Given the description of an element on the screen output the (x, y) to click on. 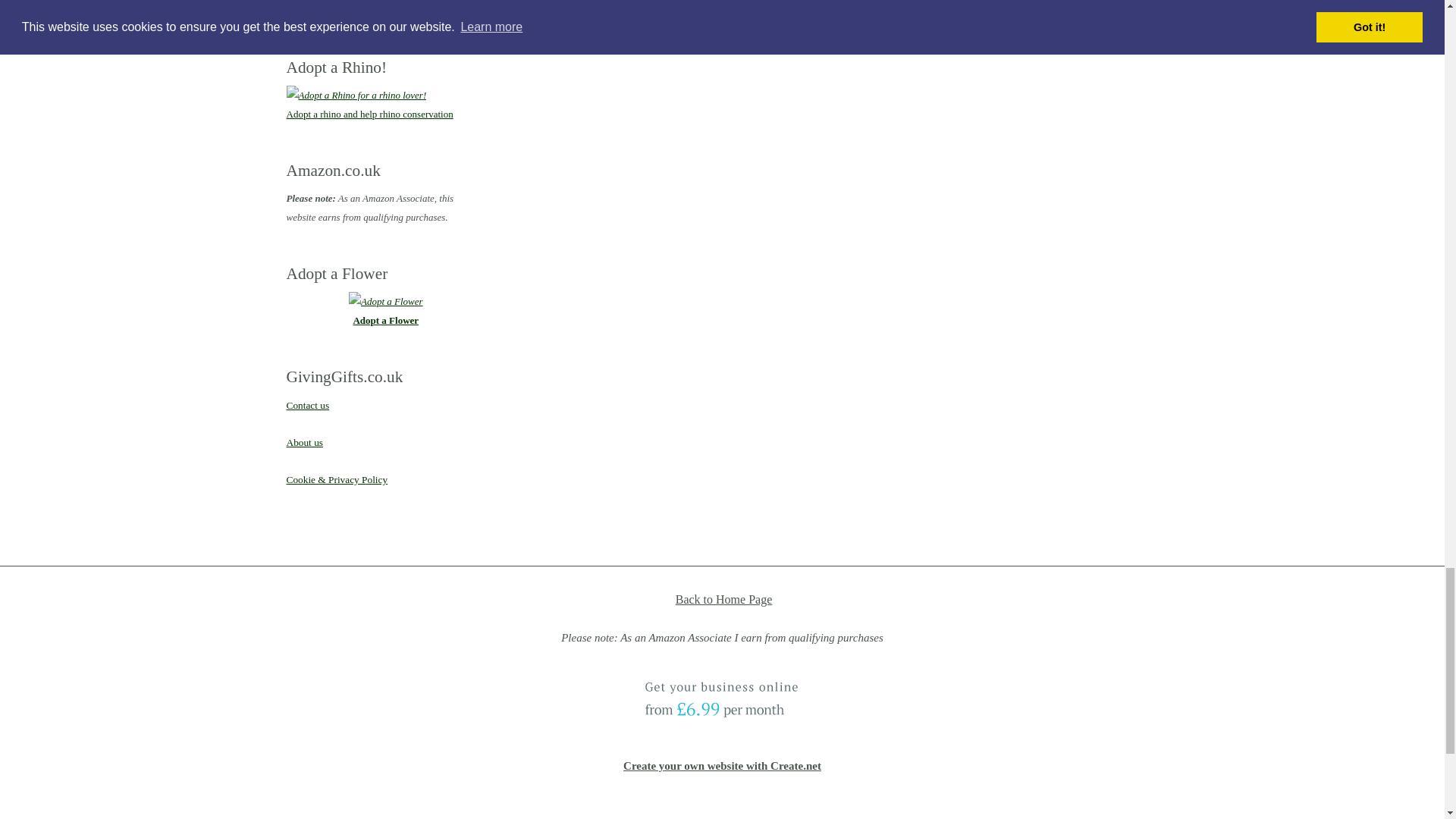
Adopt a Rhino for a rhino lover! (356, 94)
